Given the description of an element on the screen output the (x, y) to click on. 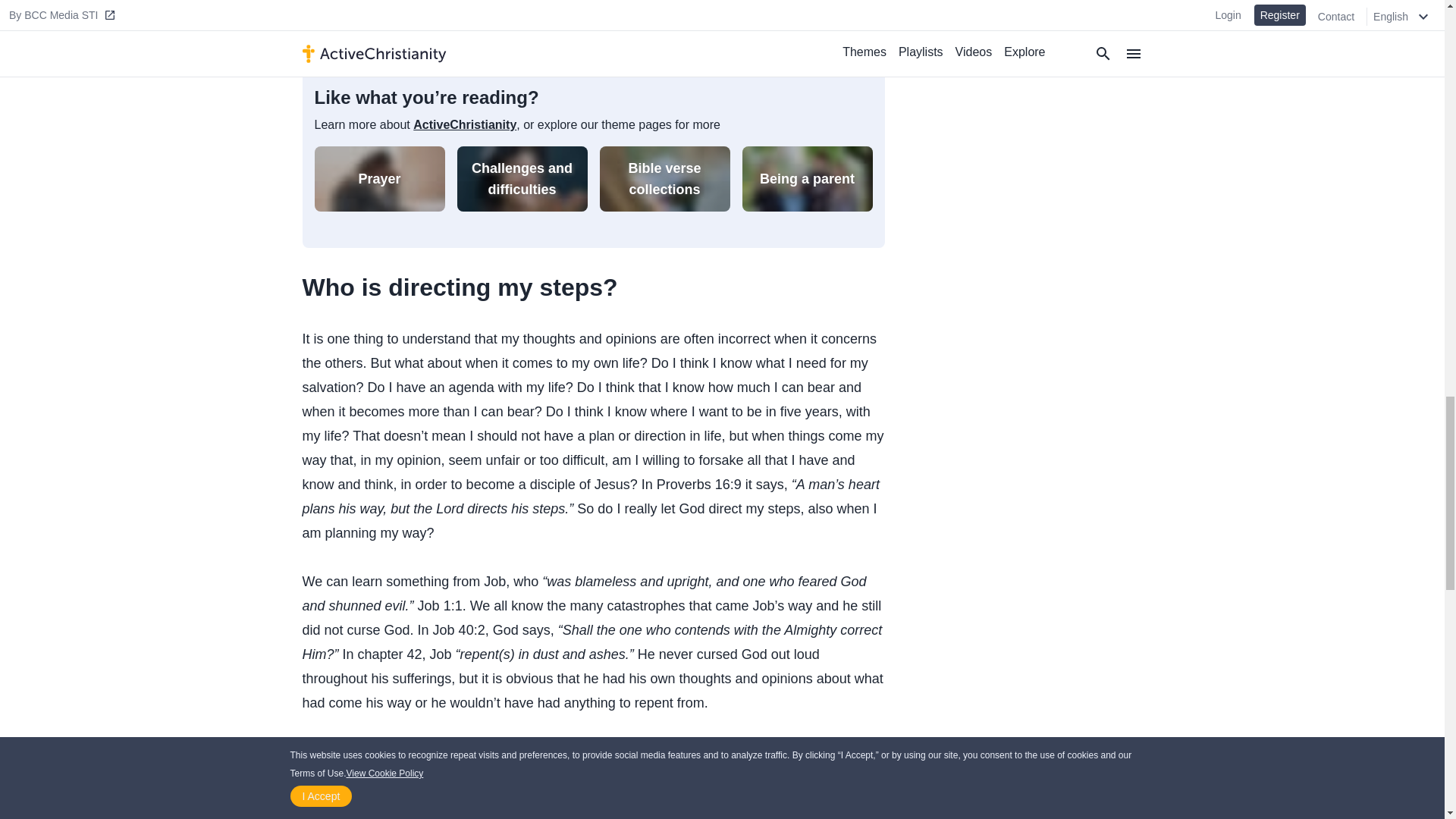
Prayer (379, 178)
ActiveChristianity (464, 124)
Challenges and difficulties (521, 178)
Bible verse collections (663, 178)
Being a parent (806, 178)
